Given the description of an element on the screen output the (x, y) to click on. 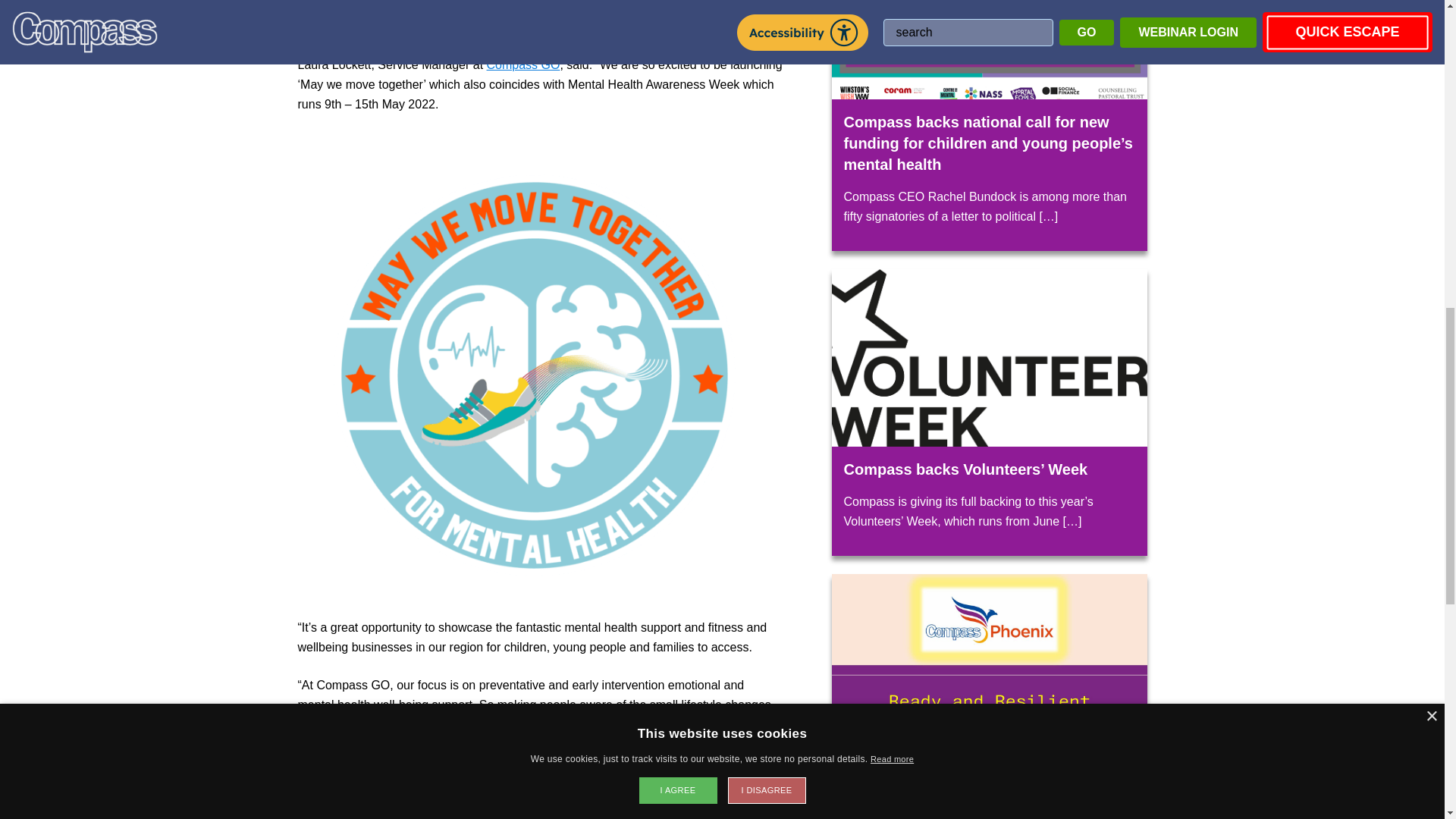
Compass GO (523, 64)
The May we move together (370, 6)
